Given the description of an element on the screen output the (x, y) to click on. 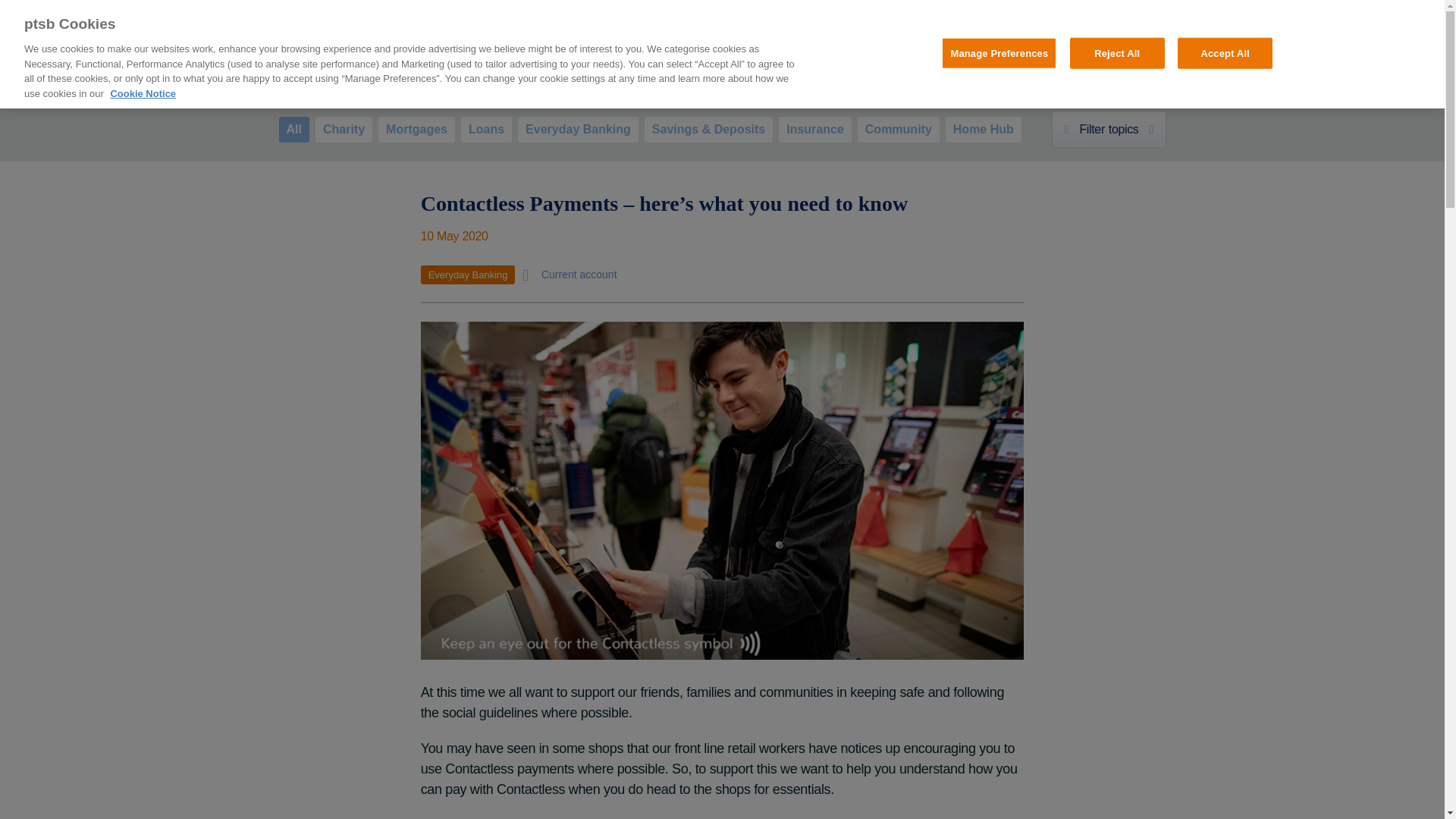
Community (898, 129)
Everyday Banking (467, 274)
Mortgages (416, 129)
Open24 (767, 60)
Charity (343, 129)
Insurance (814, 129)
All (293, 129)
Current account (568, 274)
Back to PTSB.ie (328, 10)
Home Hub (1108, 129)
Loans (983, 129)
Everyday Banking (486, 129)
